Given the description of an element on the screen output the (x, y) to click on. 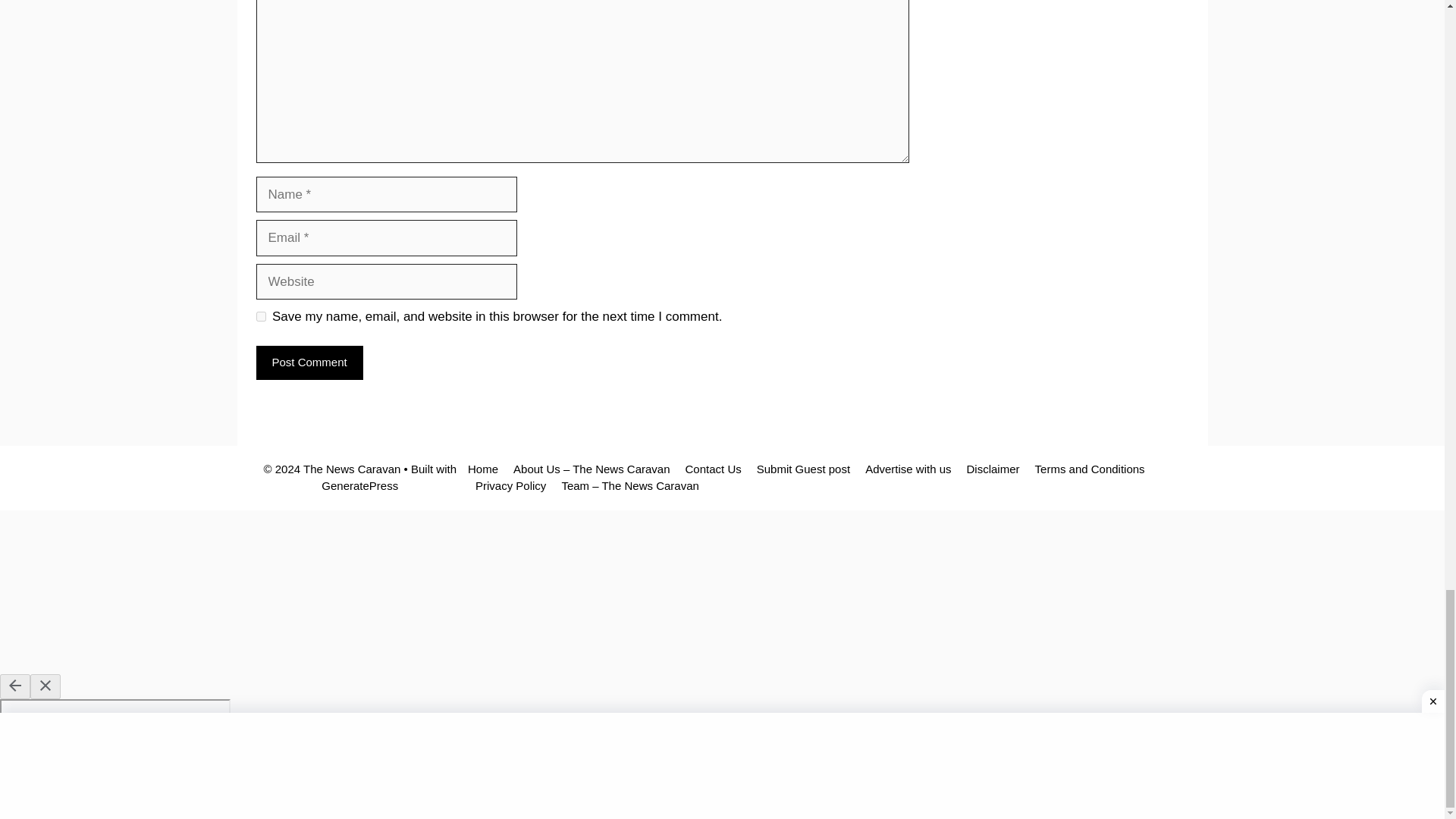
Disclaimer (993, 468)
Contact Us (713, 468)
Submit Guest post (803, 468)
GeneratePress (359, 485)
Home (482, 468)
Post Comment (309, 362)
Advertise with us (907, 468)
yes (261, 316)
Privacy Policy (511, 485)
Post Comment (309, 362)
